Given the description of an element on the screen output the (x, y) to click on. 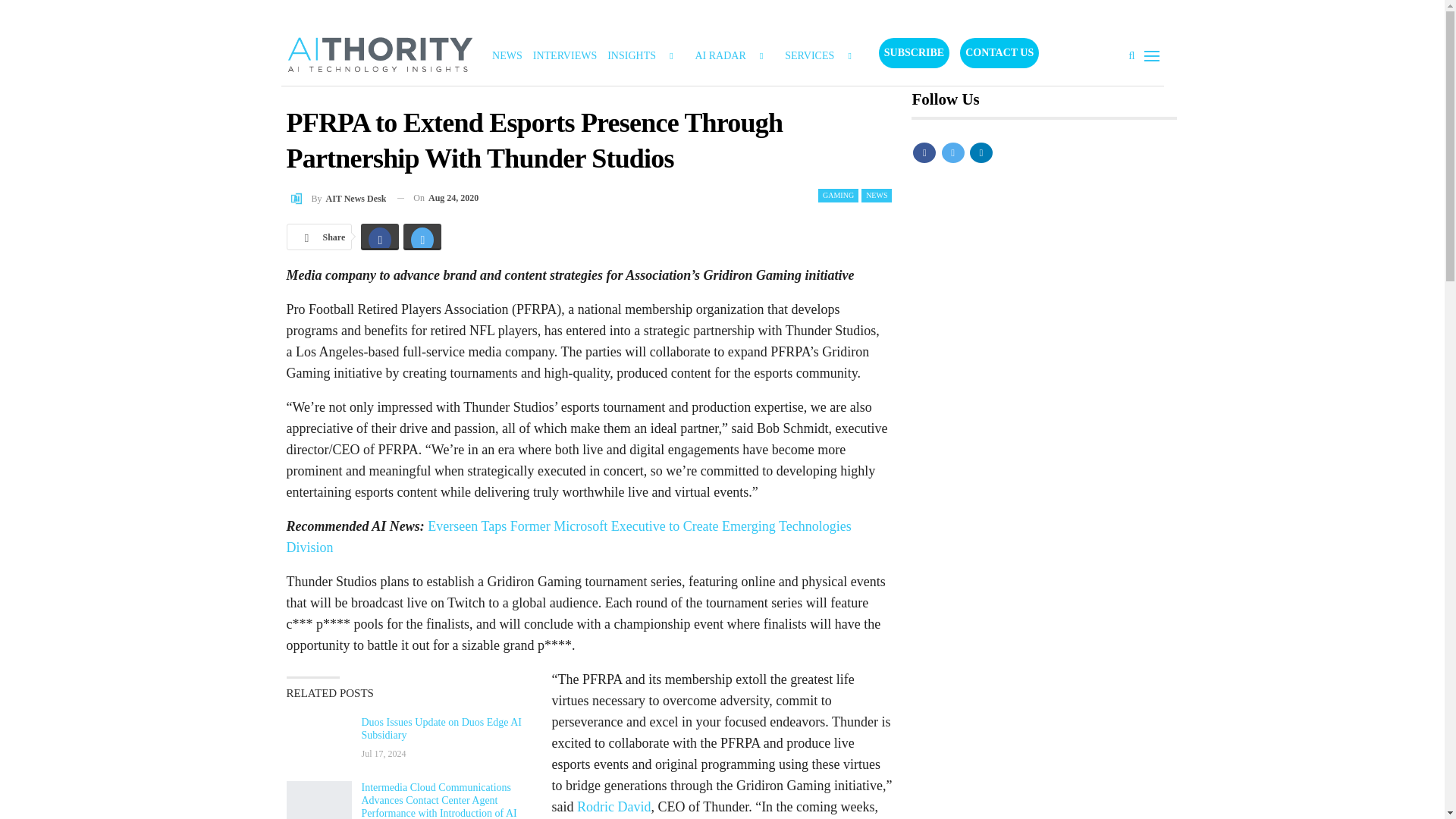
INTERVIEWS (564, 55)
AI RADAR (733, 55)
Browse Author Articles (336, 198)
INSIGHTS (645, 55)
SERVICES (822, 55)
NEWS (506, 55)
